Given the description of an element on the screen output the (x, y) to click on. 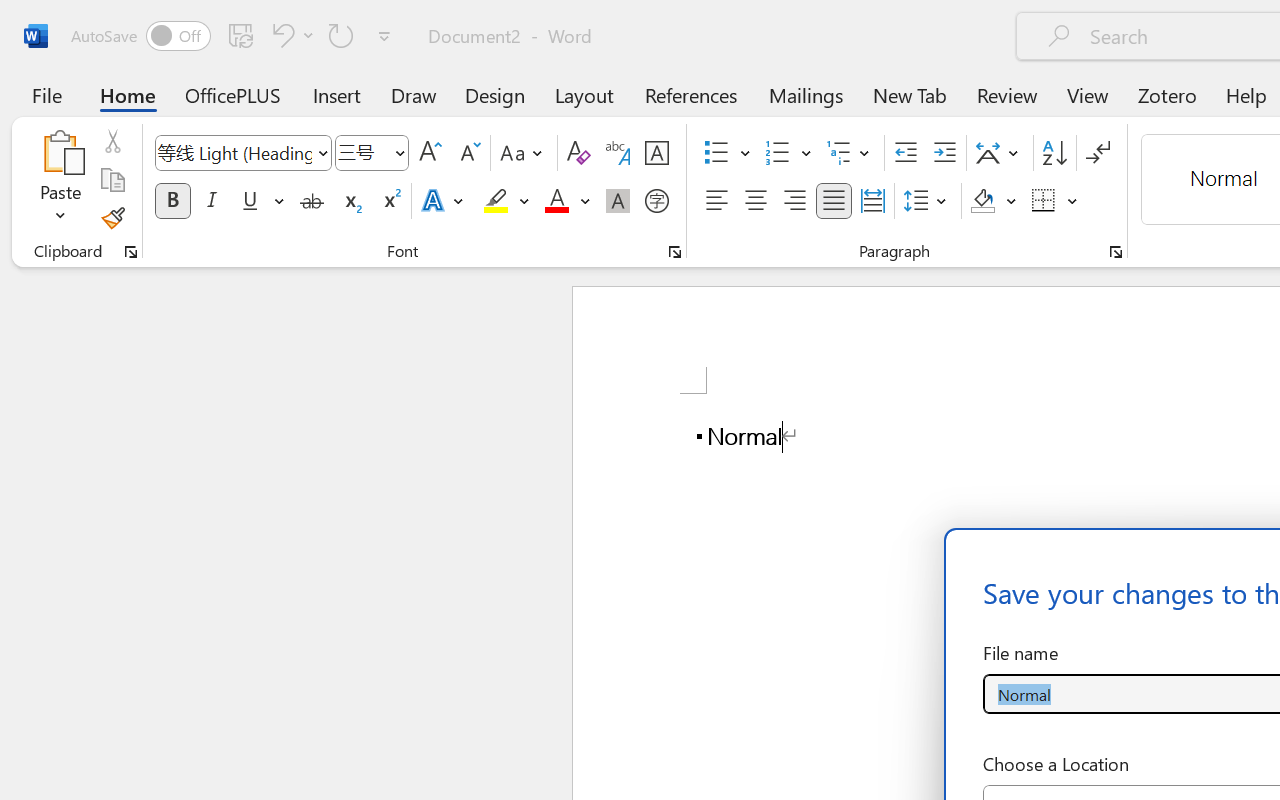
Asian Layout (1000, 153)
Borders (1055, 201)
Open (399, 152)
Line and Paragraph Spacing (927, 201)
Align Left (716, 201)
Multilevel List (850, 153)
Font Size (372, 153)
Align Right (794, 201)
Change Case (524, 153)
Shading (993, 201)
Borders (1044, 201)
Office Clipboard... (131, 252)
Text Effects and Typography (444, 201)
Save (241, 35)
Font... (675, 252)
